Given the description of an element on the screen output the (x, y) to click on. 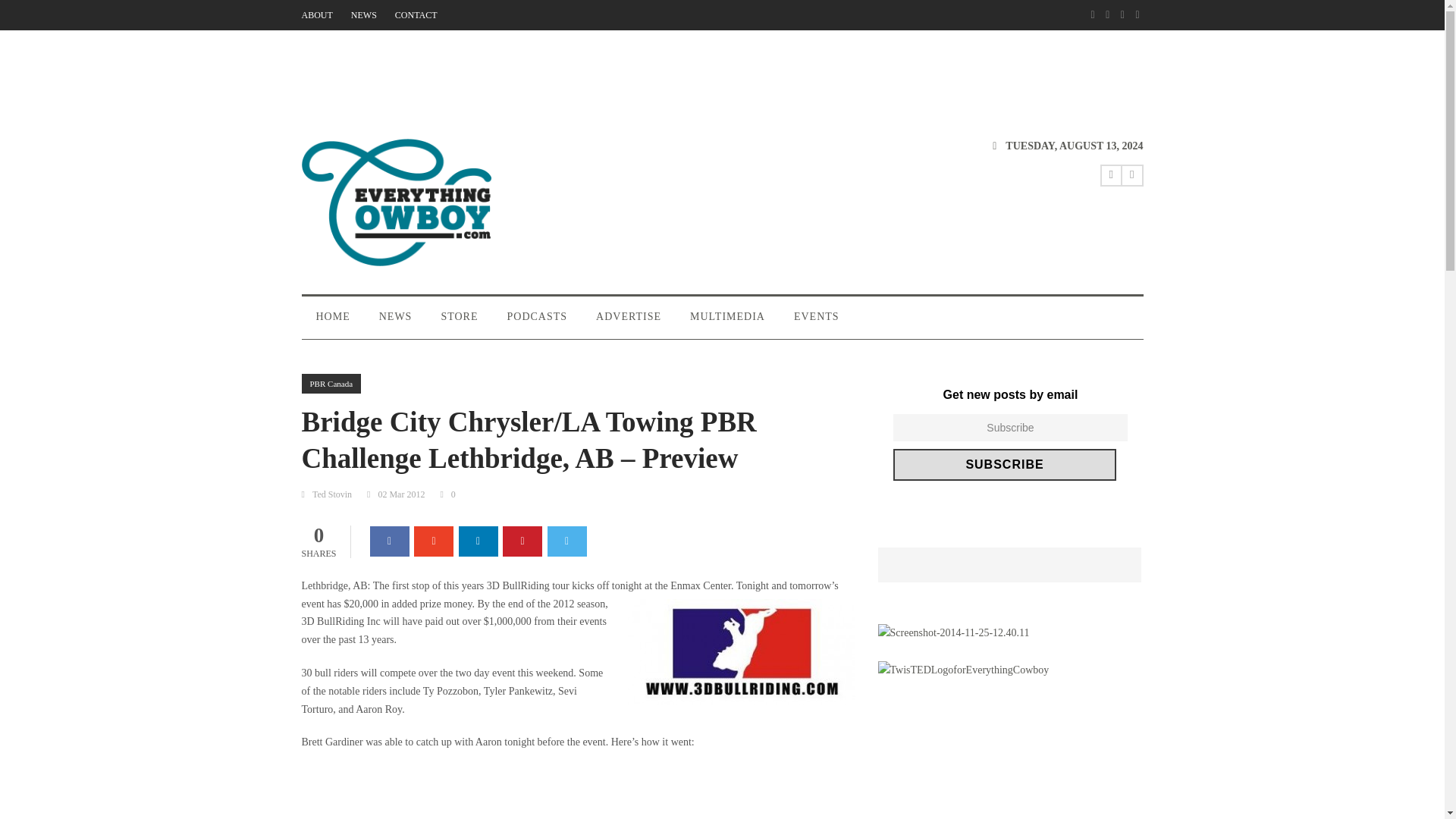
PODCASTS (537, 323)
CONTACT (416, 15)
ABOUT (317, 15)
Posts by Ted Stovin (332, 493)
3d-logo-jpeg (741, 651)
HOME (333, 323)
PBR Canada (331, 383)
ADVERTISE (627, 323)
EVENTS (815, 323)
02 Mar 2012 (401, 493)
